Given the description of an element on the screen output the (x, y) to click on. 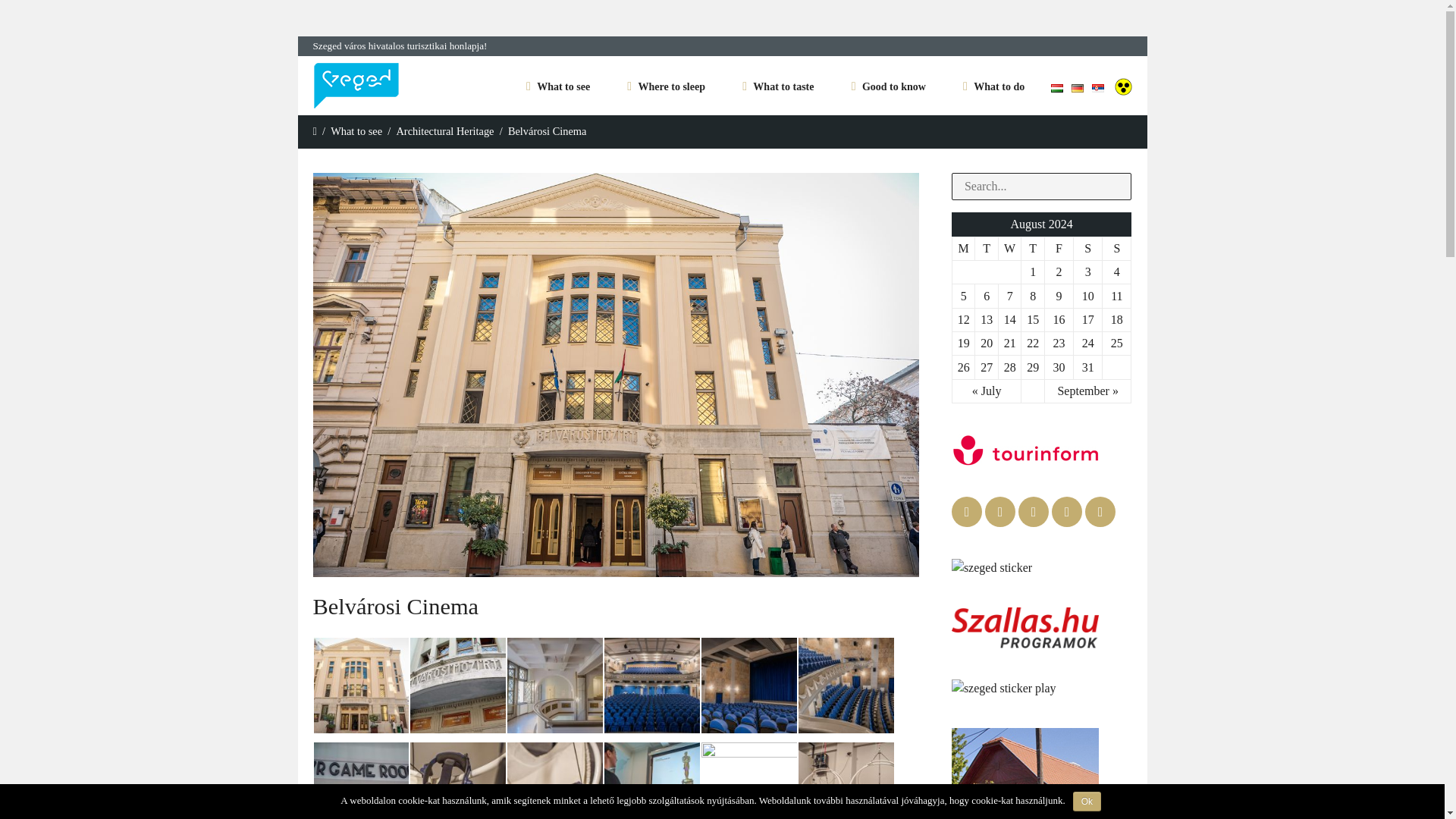
Magyar (1056, 88)
What to see (563, 87)
What to taste (783, 87)
Deutsch (1076, 88)
Where to sleep (671, 87)
What to do (999, 87)
Good to know (893, 87)
